Given the description of an element on the screen output the (x, y) to click on. 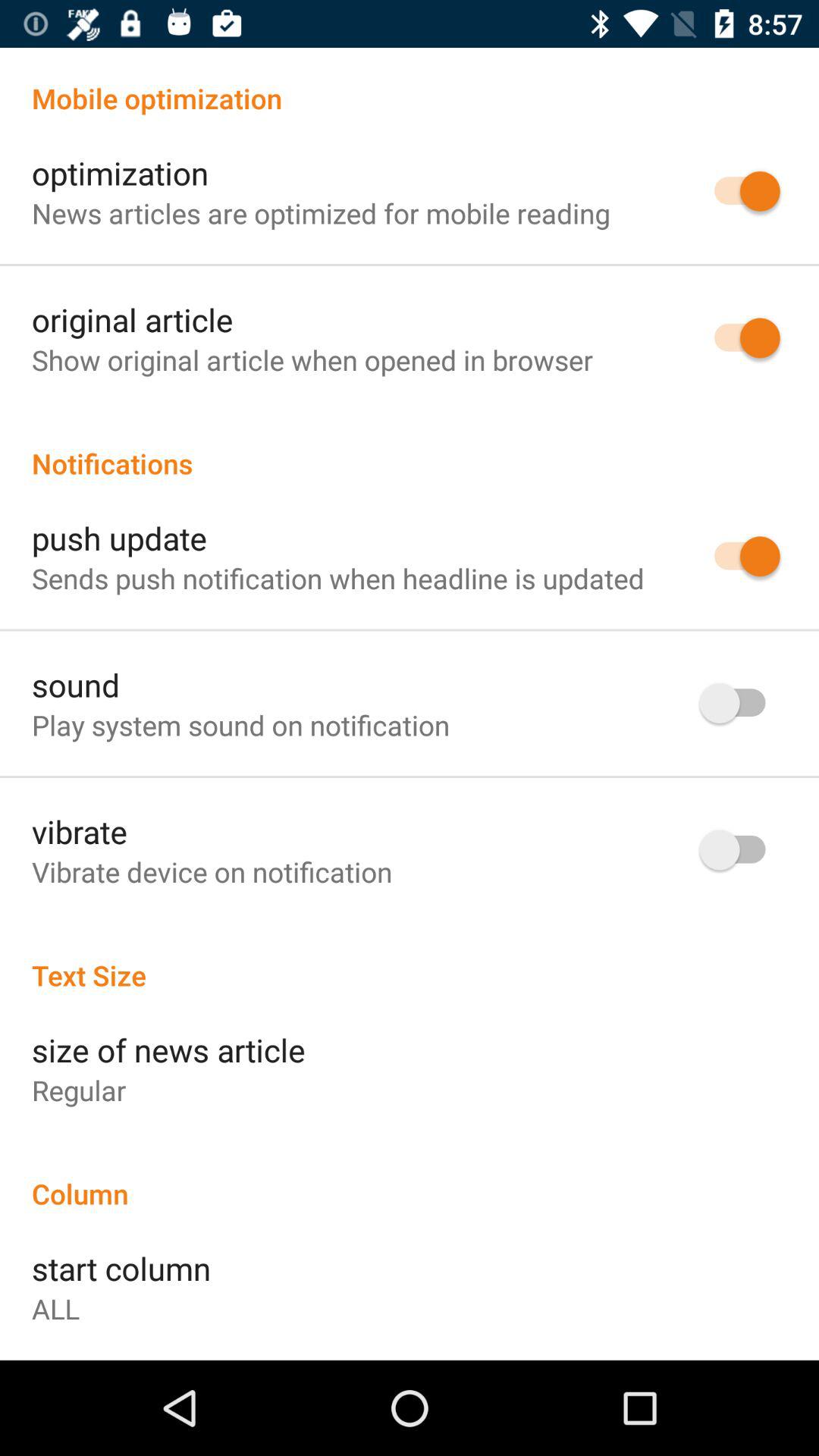
launch the item below sound icon (240, 724)
